Given the description of an element on the screen output the (x, y) to click on. 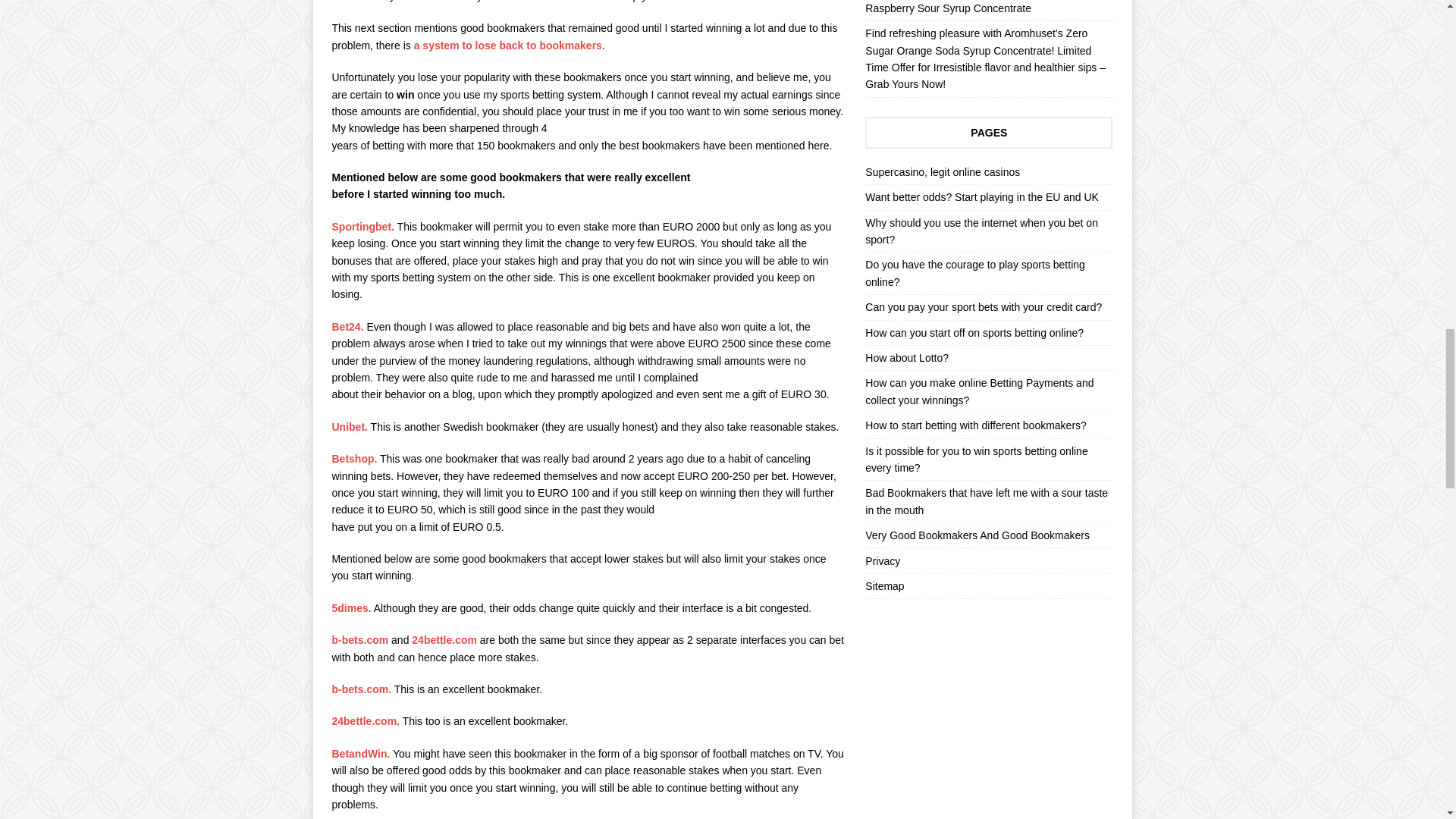
Unibet. (349, 426)
Sportingbet. (362, 226)
Bet24. (347, 326)
a system to lose back to bookmakers (506, 45)
